Given the description of an element on the screen output the (x, y) to click on. 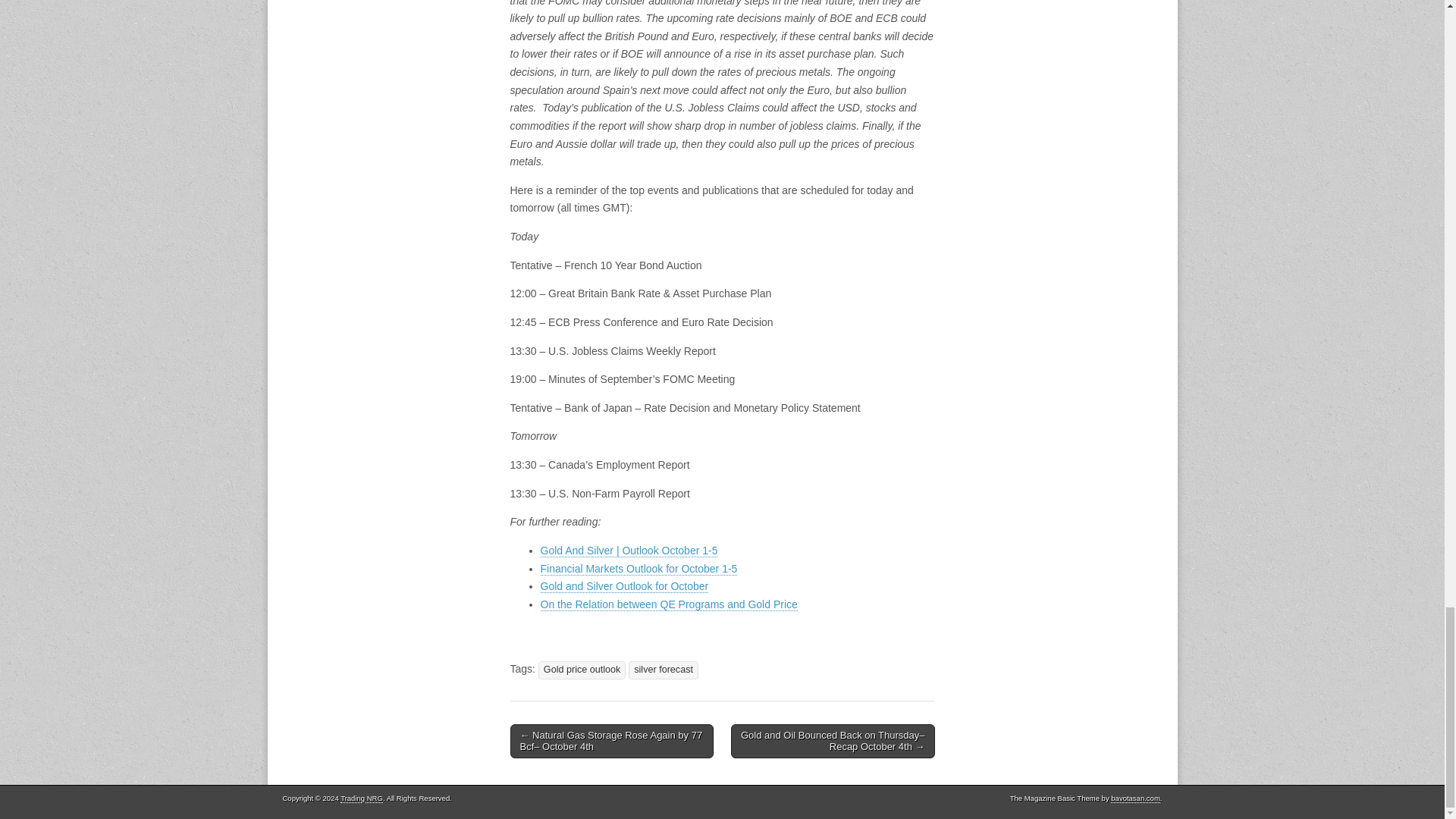
Gold price outlook (582, 669)
silver forecast (663, 669)
Financial Markets Outlook for October 1-5 (638, 568)
On the Relation between QE Programs and Gold Price (668, 604)
Gold and Silver Outlook for October (623, 585)
